Given the description of an element on the screen output the (x, y) to click on. 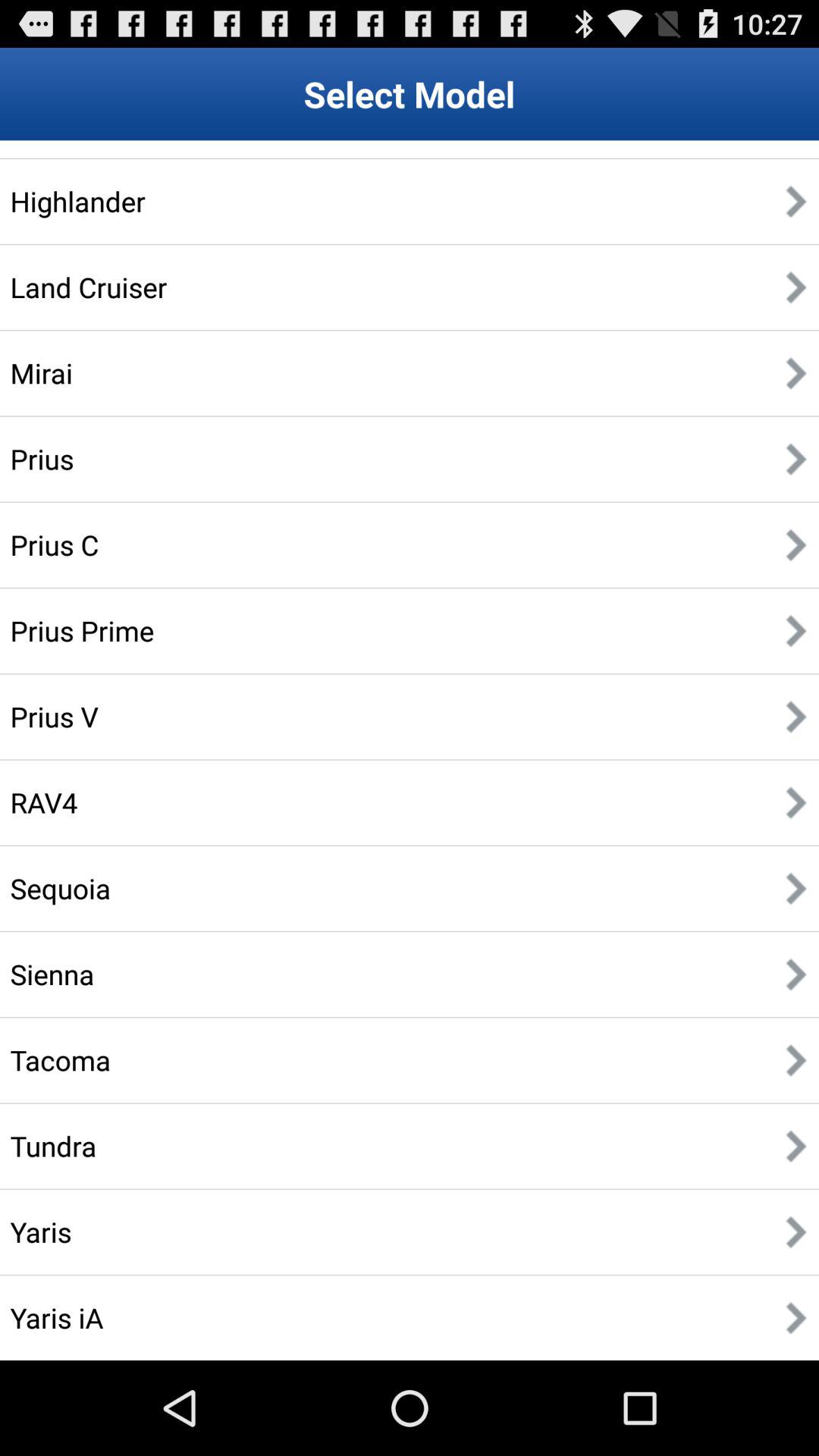
turn on icon below the rav4 icon (60, 888)
